Given the description of an element on the screen output the (x, y) to click on. 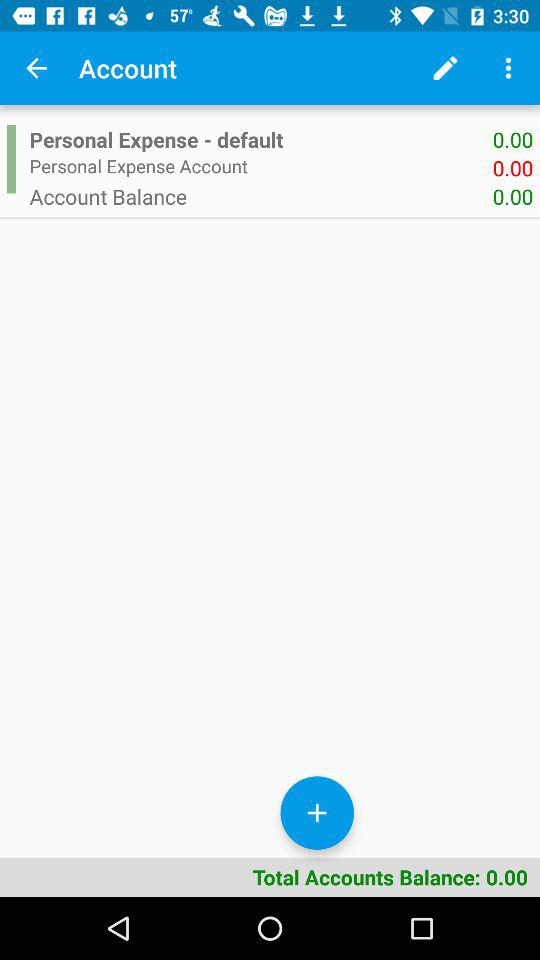
add new account (317, 812)
